Given the description of an element on the screen output the (x, y) to click on. 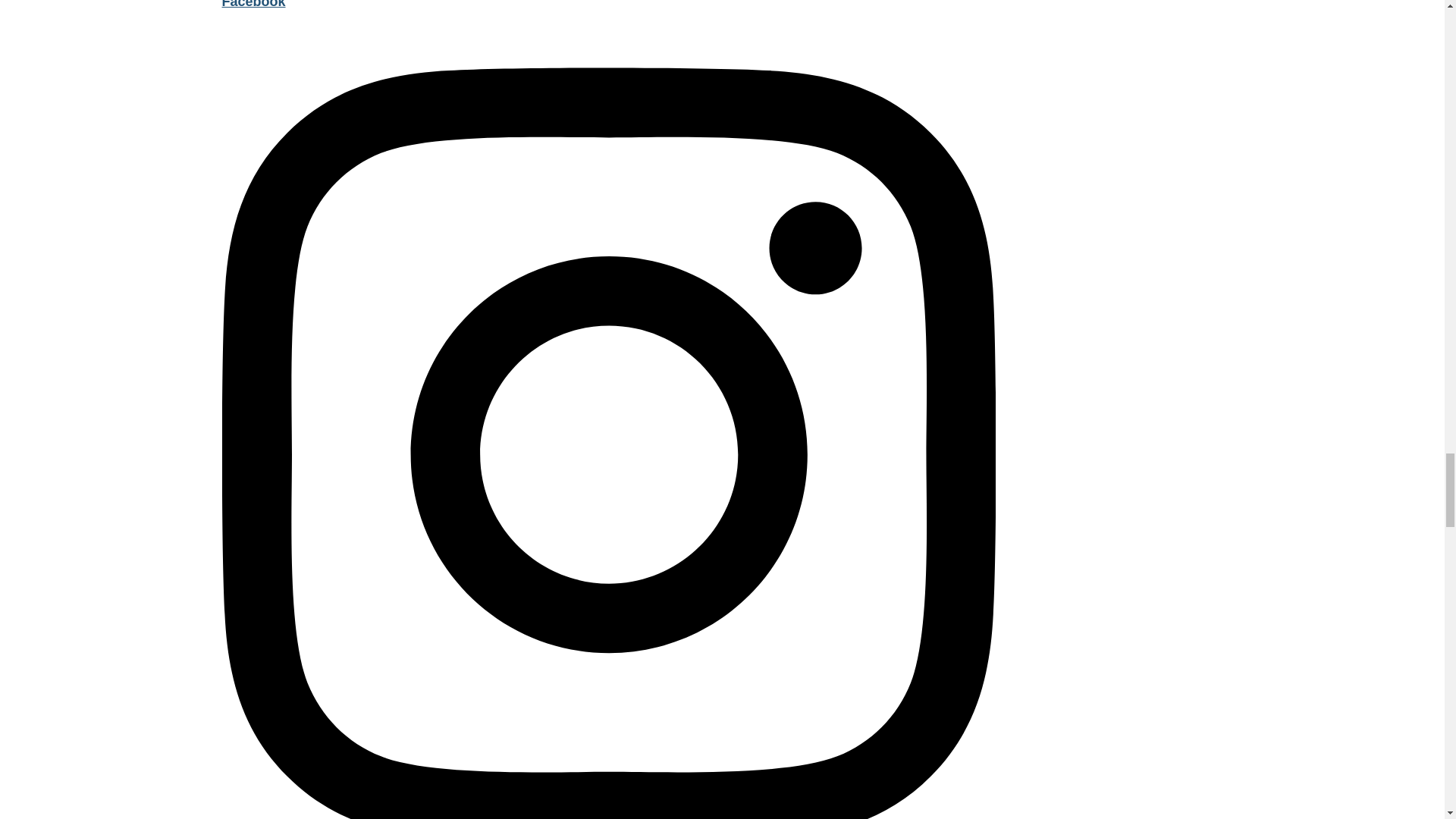
Facebook (607, 4)
